Given the description of an element on the screen output the (x, y) to click on. 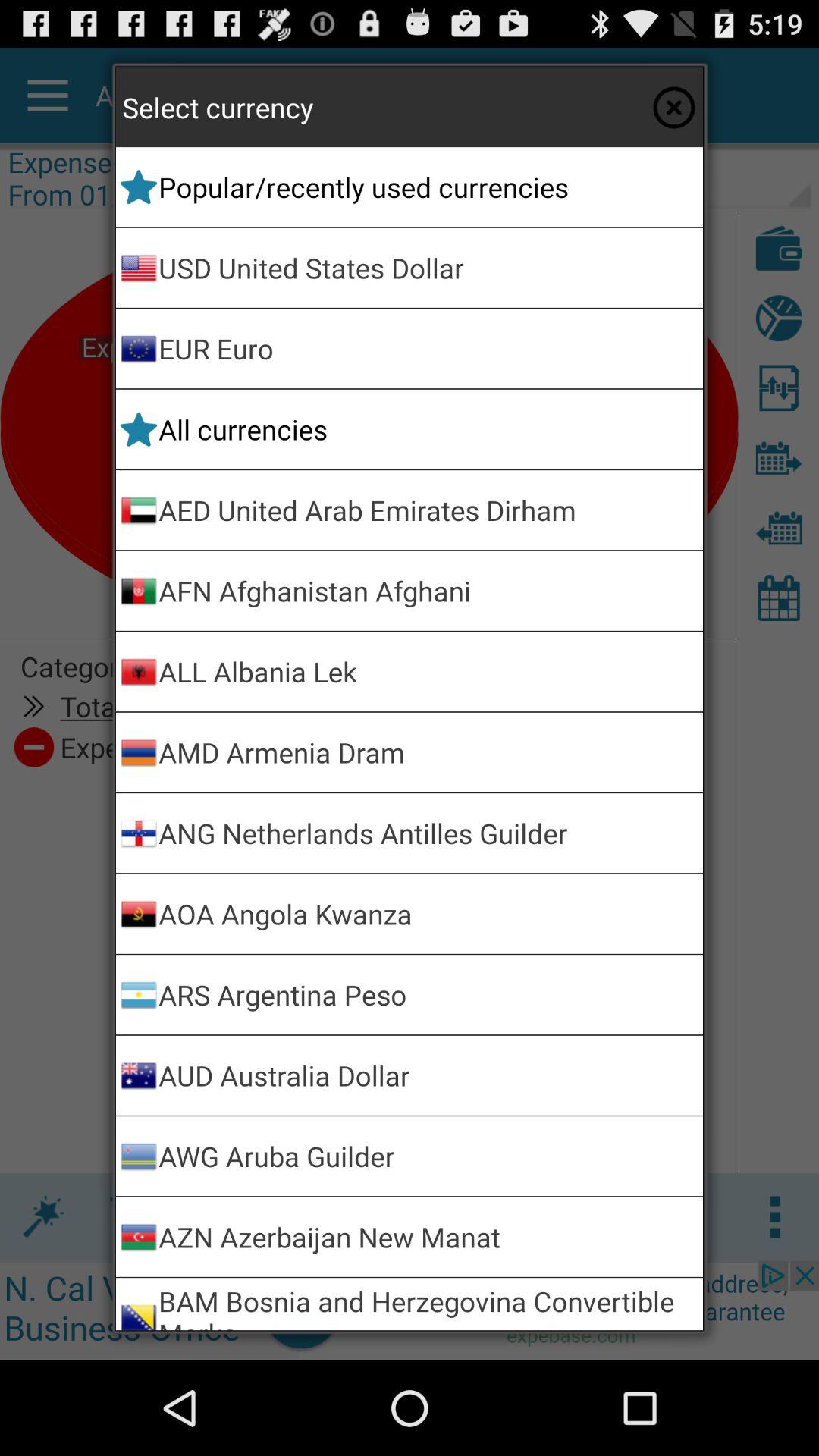
launch the app below all currencies app (427, 509)
